Given the description of an element on the screen output the (x, y) to click on. 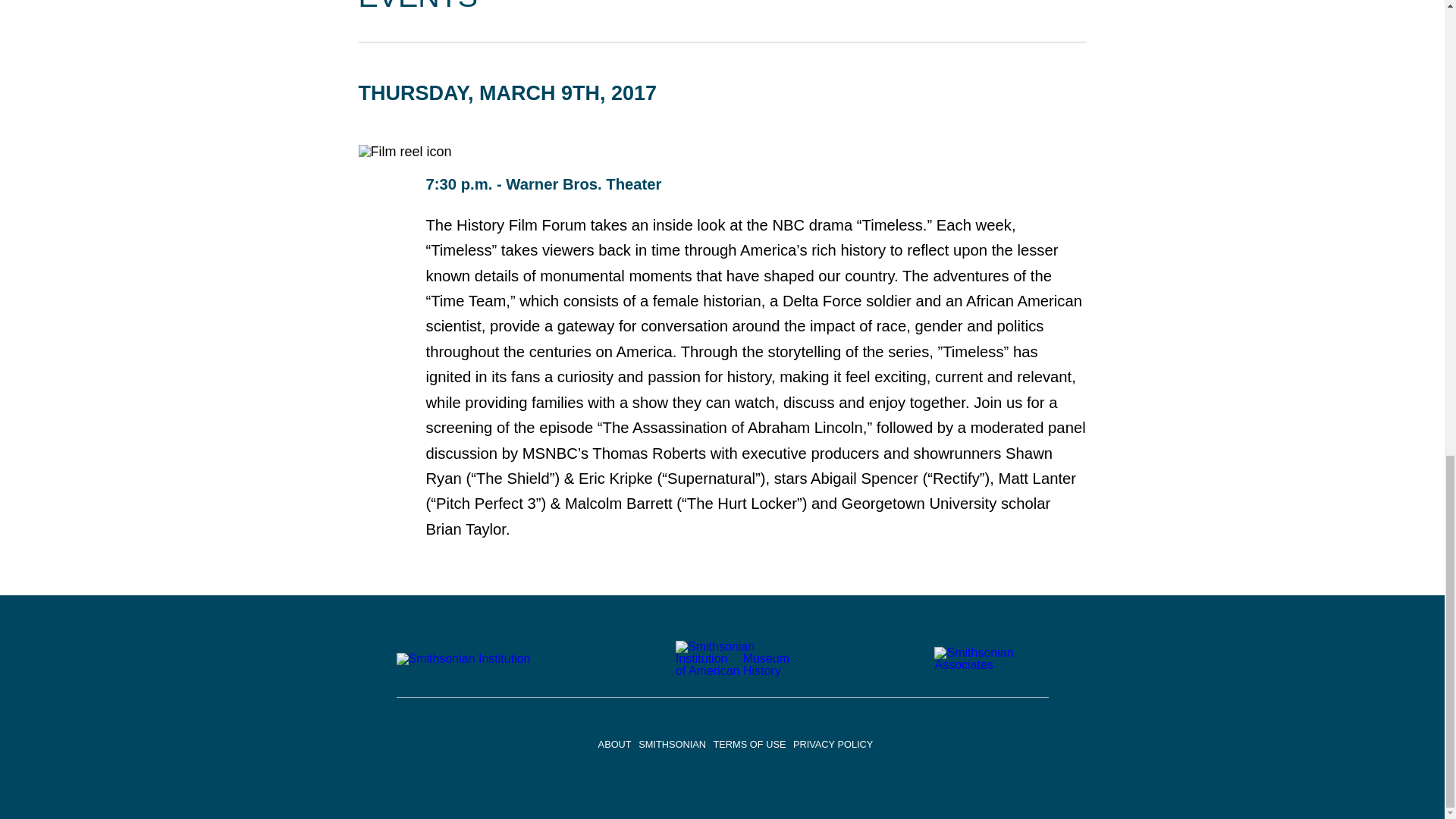
TERMS OF USE (749, 744)
ABOUT (614, 744)
SMITHSONIAN (672, 744)
PRIVACY POLICY (833, 744)
